Given the description of an element on the screen output the (x, y) to click on. 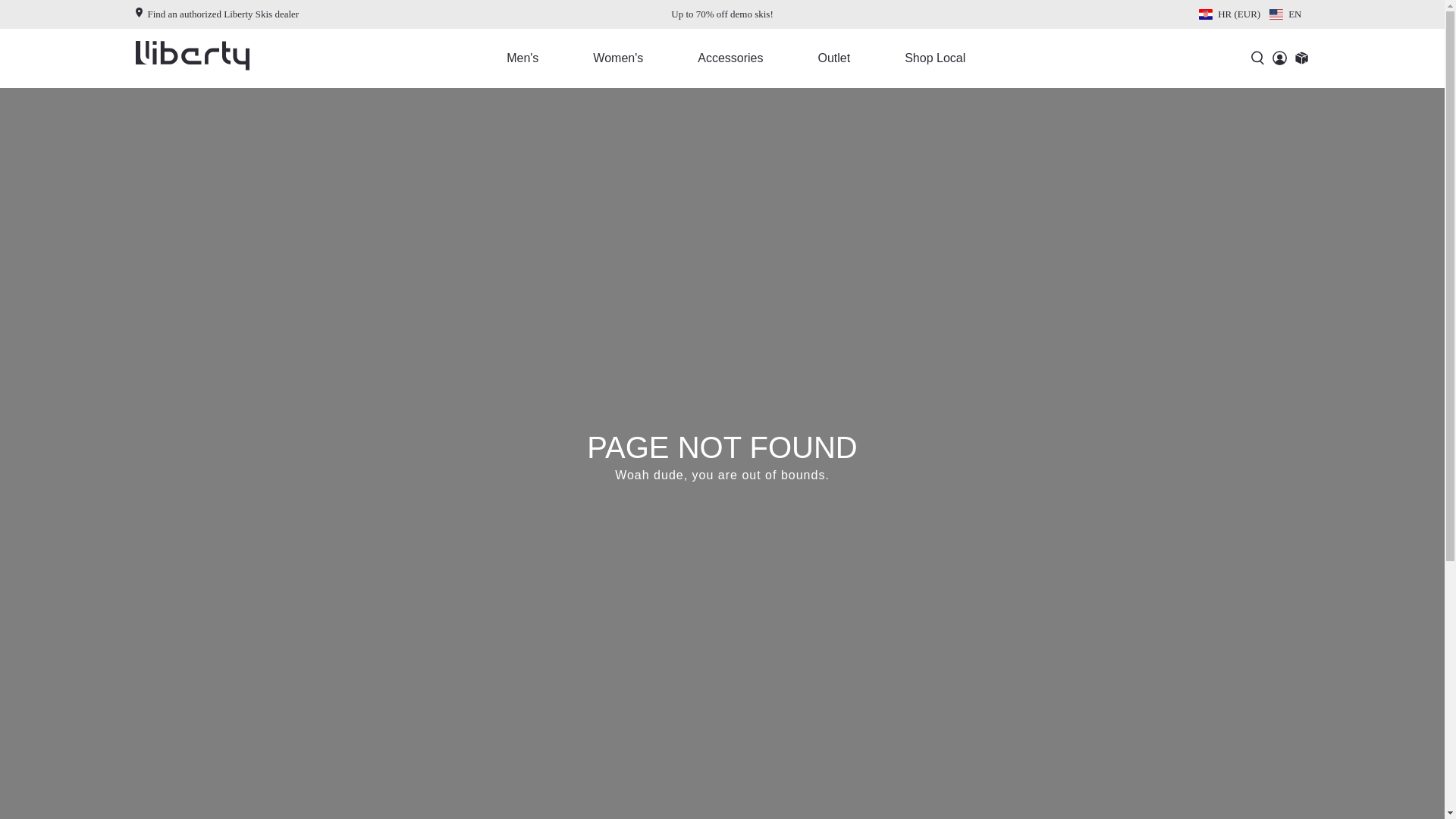
Outlet (844, 57)
Accessories (740, 57)
Men's (533, 57)
Liberty Skis (191, 58)
Women's (627, 57)
 Find an authorized Liberty Skis dealer (216, 14)
Shop Local (945, 57)
